Given the description of an element on the screen output the (x, y) to click on. 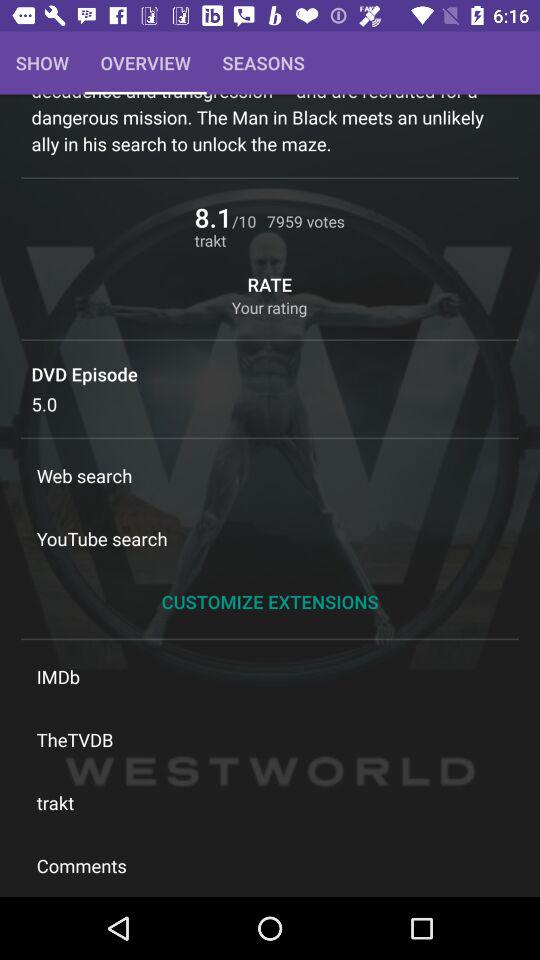
jump to the youtube search (270, 538)
